Given the description of an element on the screen output the (x, y) to click on. 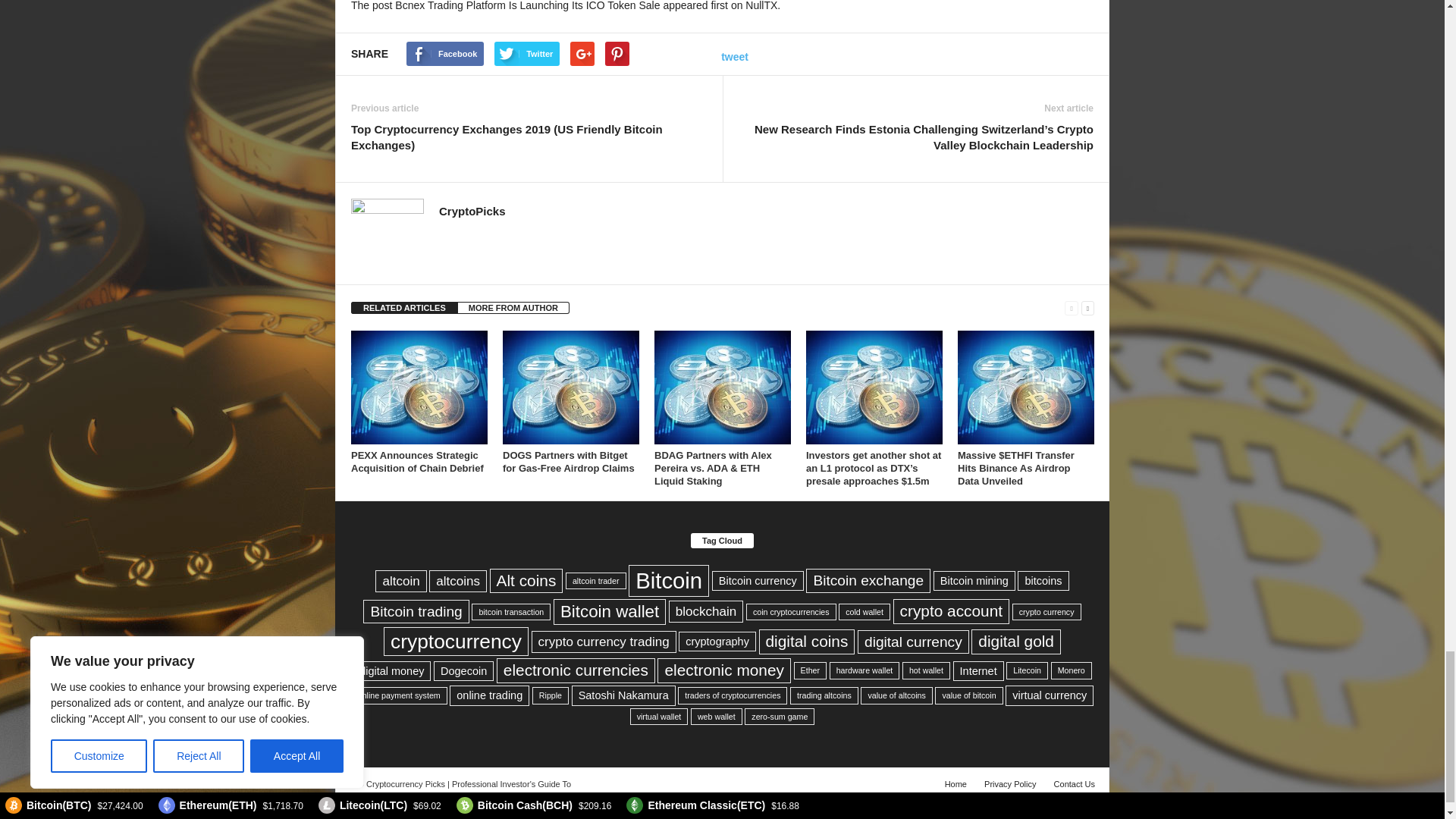
PEXX Announces Strategic Acquisition of Chain Debrief (416, 461)
DOGS Partners with Bitget for Gas-Free Airdrop Claims (568, 461)
PEXX Announces Strategic Acquisition of Chain Debrief (418, 387)
DOGS Partners with Bitget for Gas-Free Airdrop Claims (570, 387)
